Given the description of an element on the screen output the (x, y) to click on. 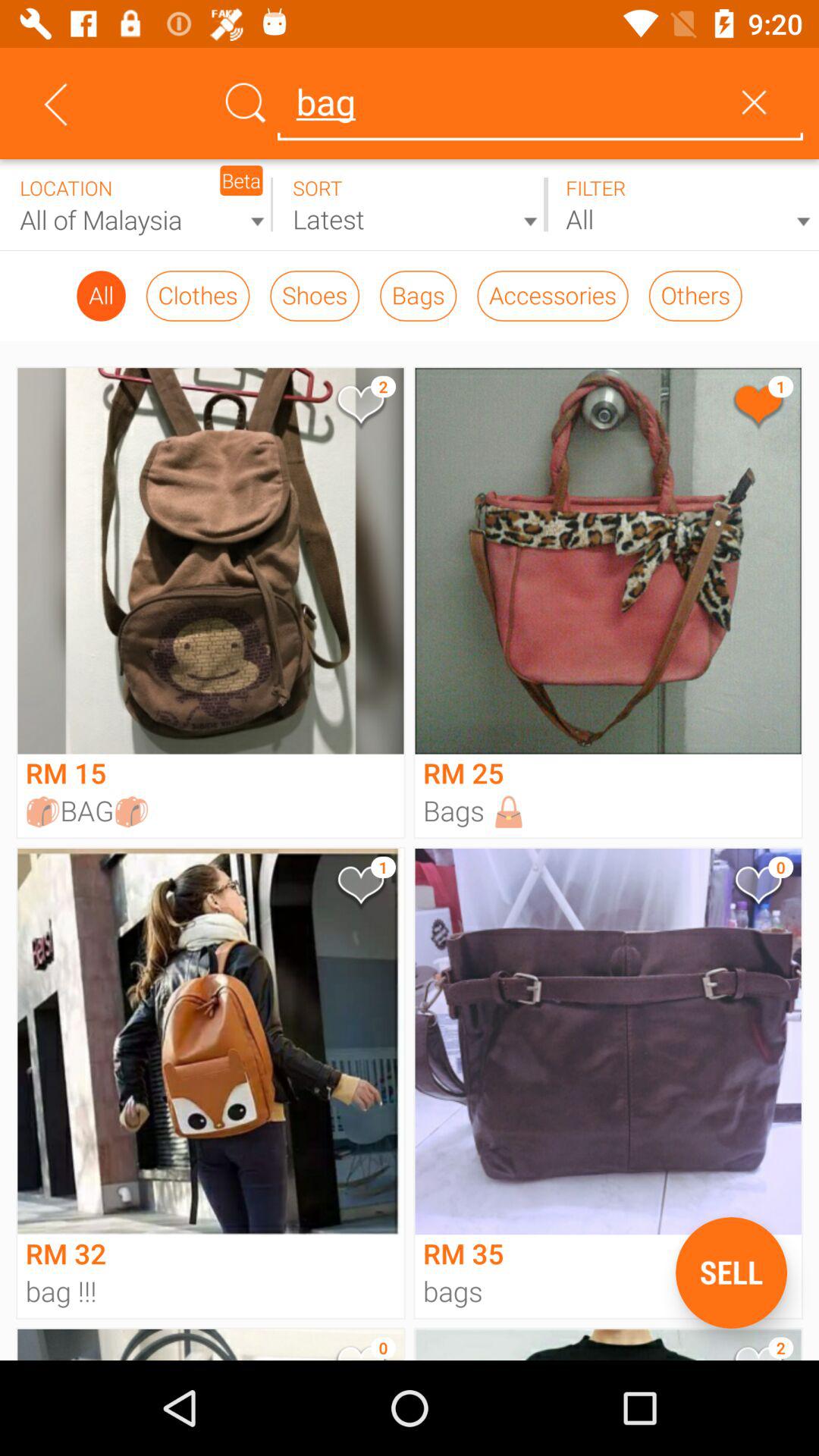
favorite item (359, 407)
